Given the description of an element on the screen output the (x, y) to click on. 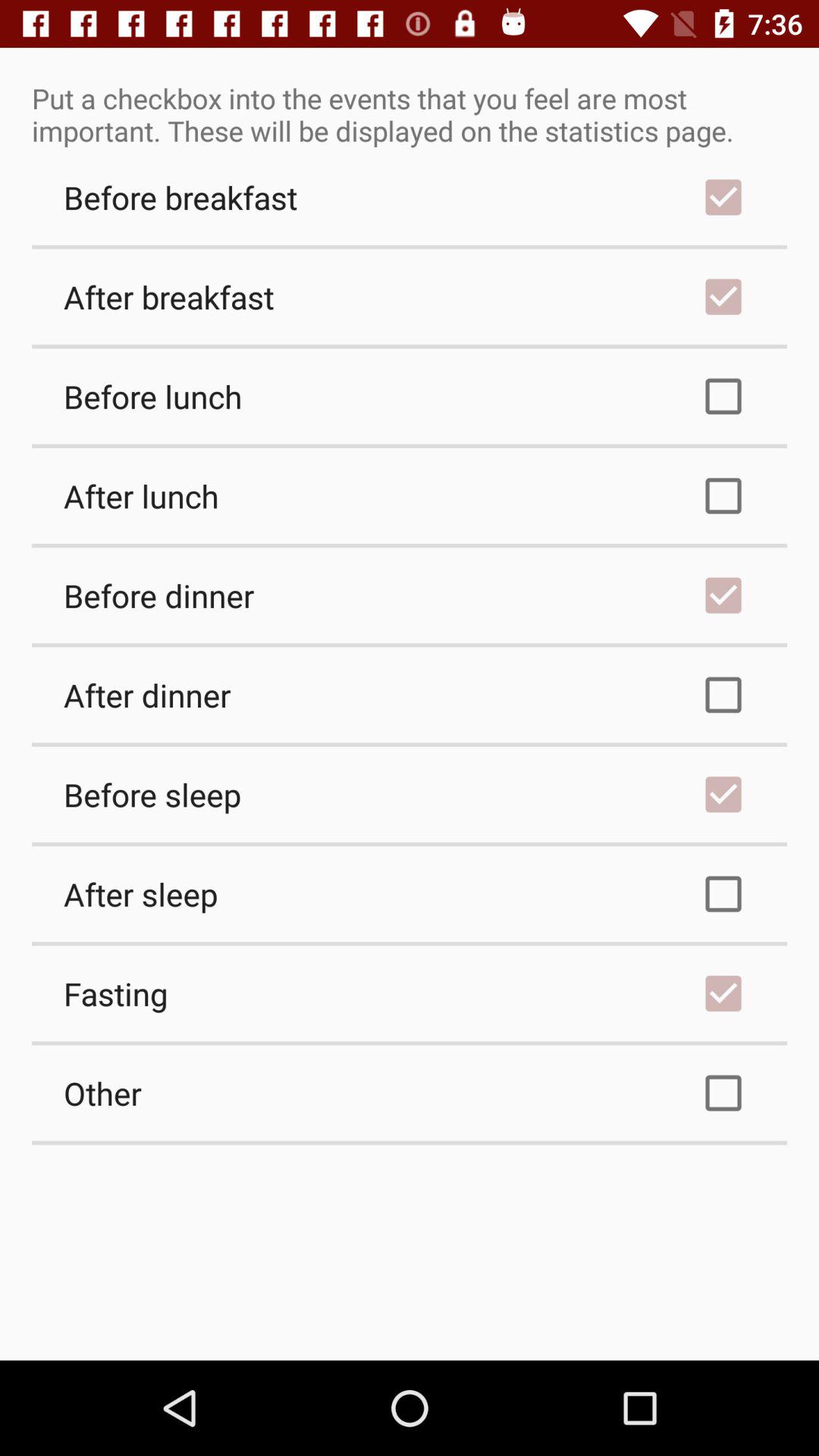
scroll until before sleep icon (409, 794)
